Given the description of an element on the screen output the (x, y) to click on. 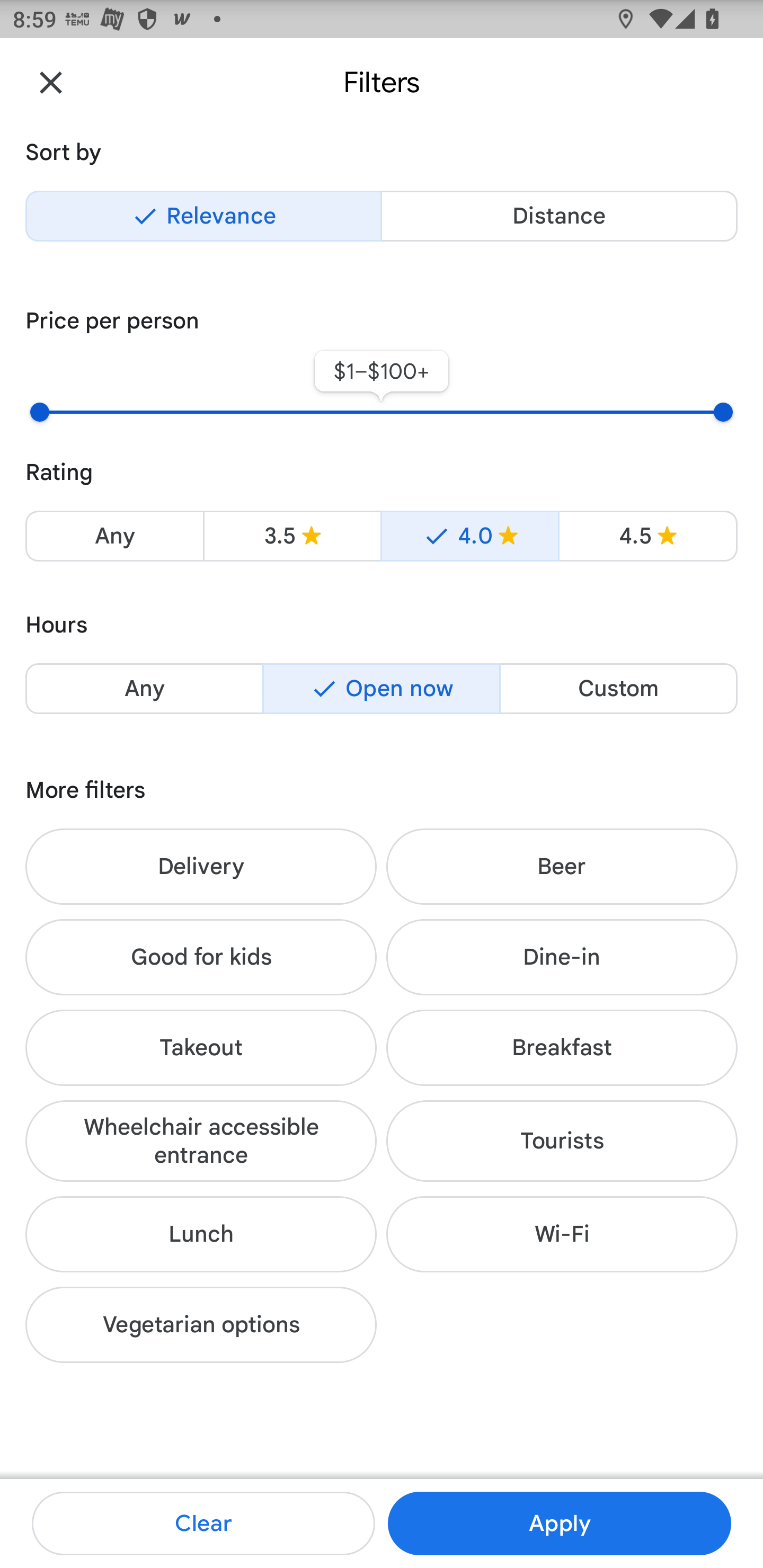
Close menu (50, 81)
Relevance (203, 216)
Distance (558, 216)
Any (114, 535)
3.5 stars (292, 535)
4.0 stars (469, 535)
4.5 stars (647, 535)
Any (144, 688)
Open now (381, 688)
Custom (618, 688)
Delivery (200, 865)
Beer (561, 865)
Good for kids (200, 956)
Dine-in (561, 956)
Takeout (200, 1047)
Breakfast (561, 1047)
Wheelchair accessible entrance (200, 1141)
Tourists (561, 1141)
Lunch (200, 1233)
Wi-Fi (561, 1233)
Vegetarian options (200, 1324)
Clear Clear Clear (203, 1522)
Apply Apply Apply (558, 1522)
